Given the description of an element on the screen output the (x, y) to click on. 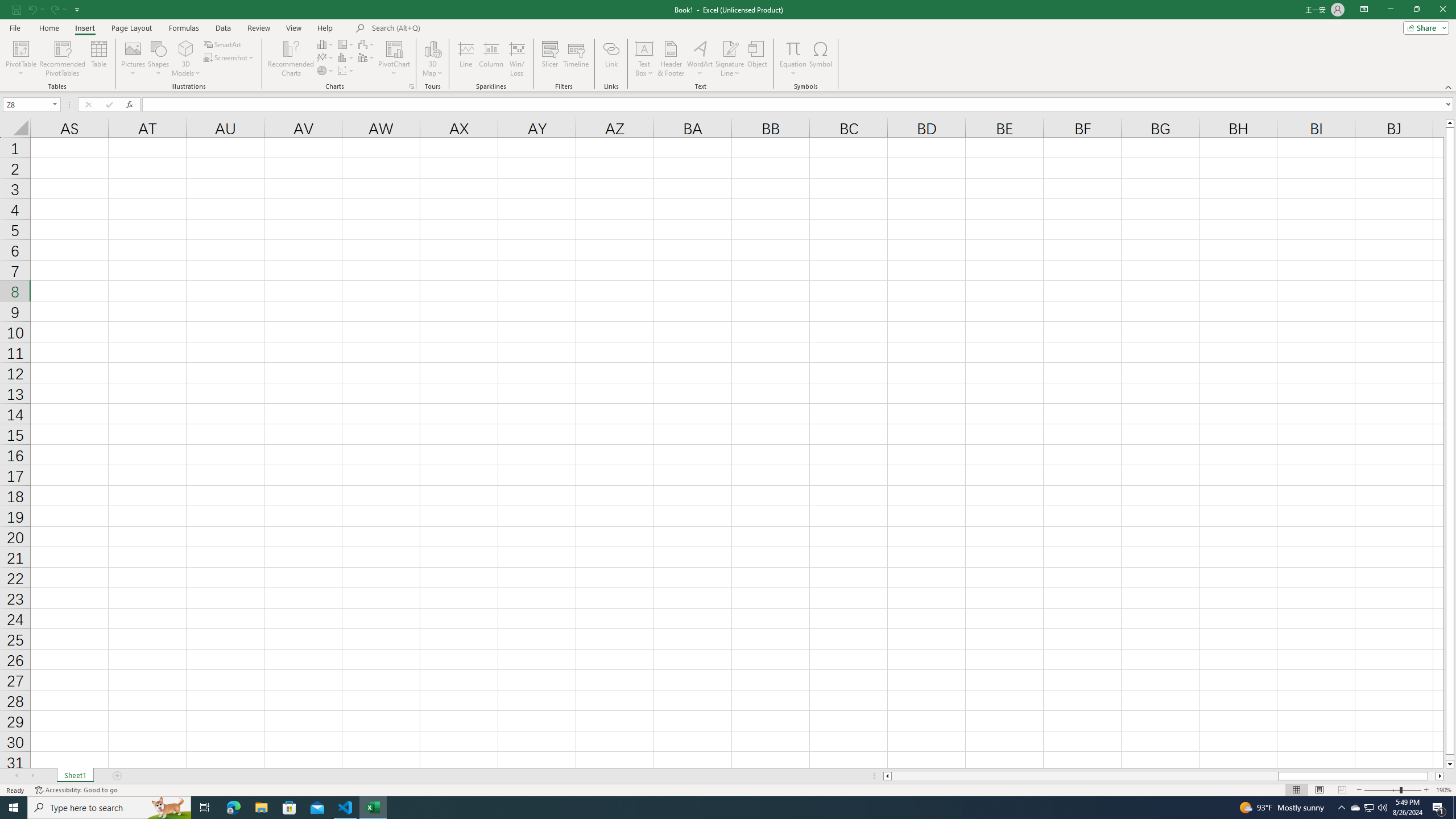
SmartArt... (223, 44)
Insert Pie or Doughnut Chart (325, 69)
Link (611, 58)
Header & Footer... (670, 58)
3D Map (432, 58)
Equation (793, 58)
Insert Combo Chart (366, 56)
